Given the description of an element on the screen output the (x, y) to click on. 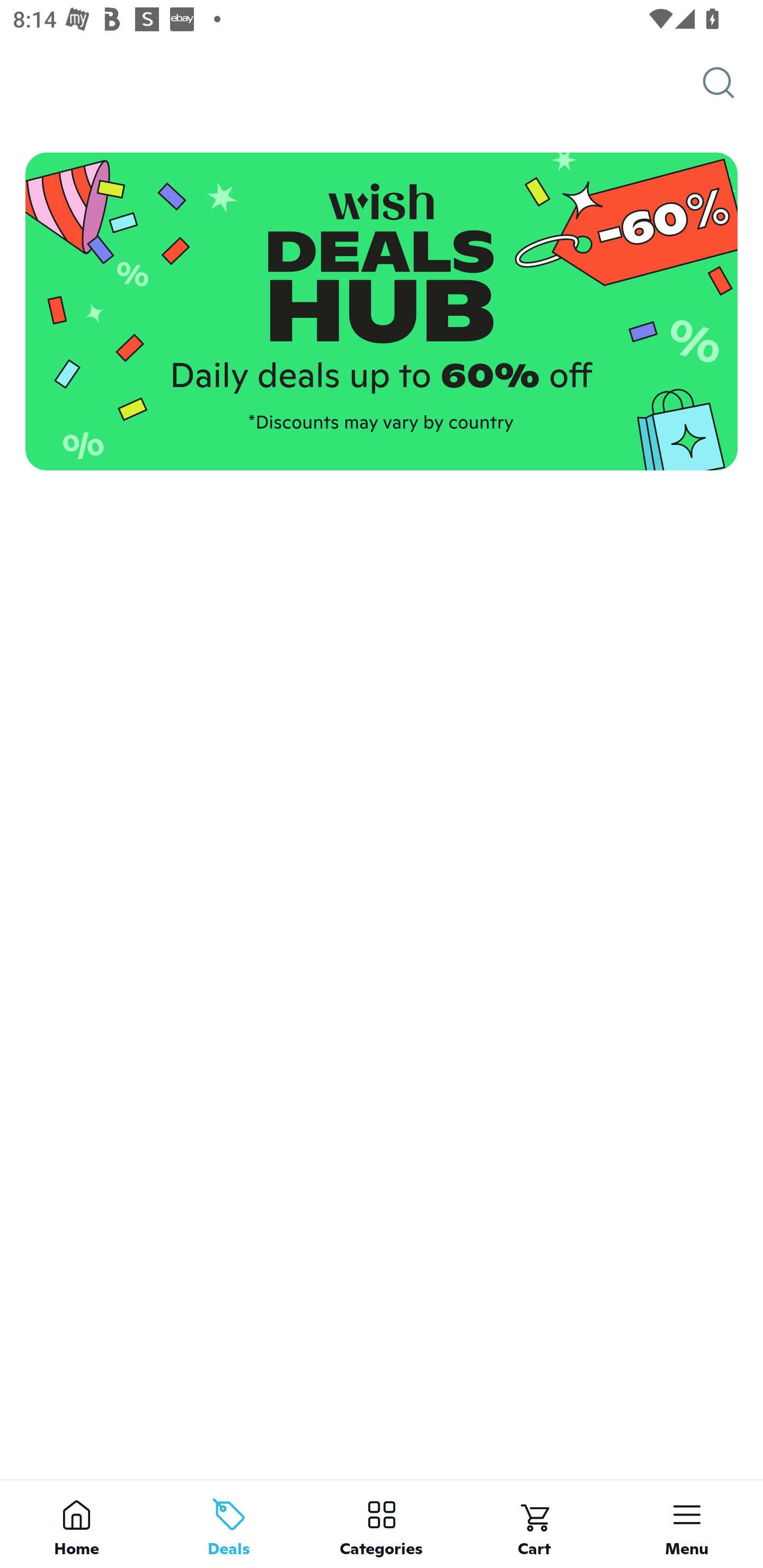
Search (732, 82)
Home (76, 1523)
Deals (228, 1523)
Categories (381, 1523)
Cart (533, 1523)
Menu (686, 1523)
